Given the description of an element on the screen output the (x, y) to click on. 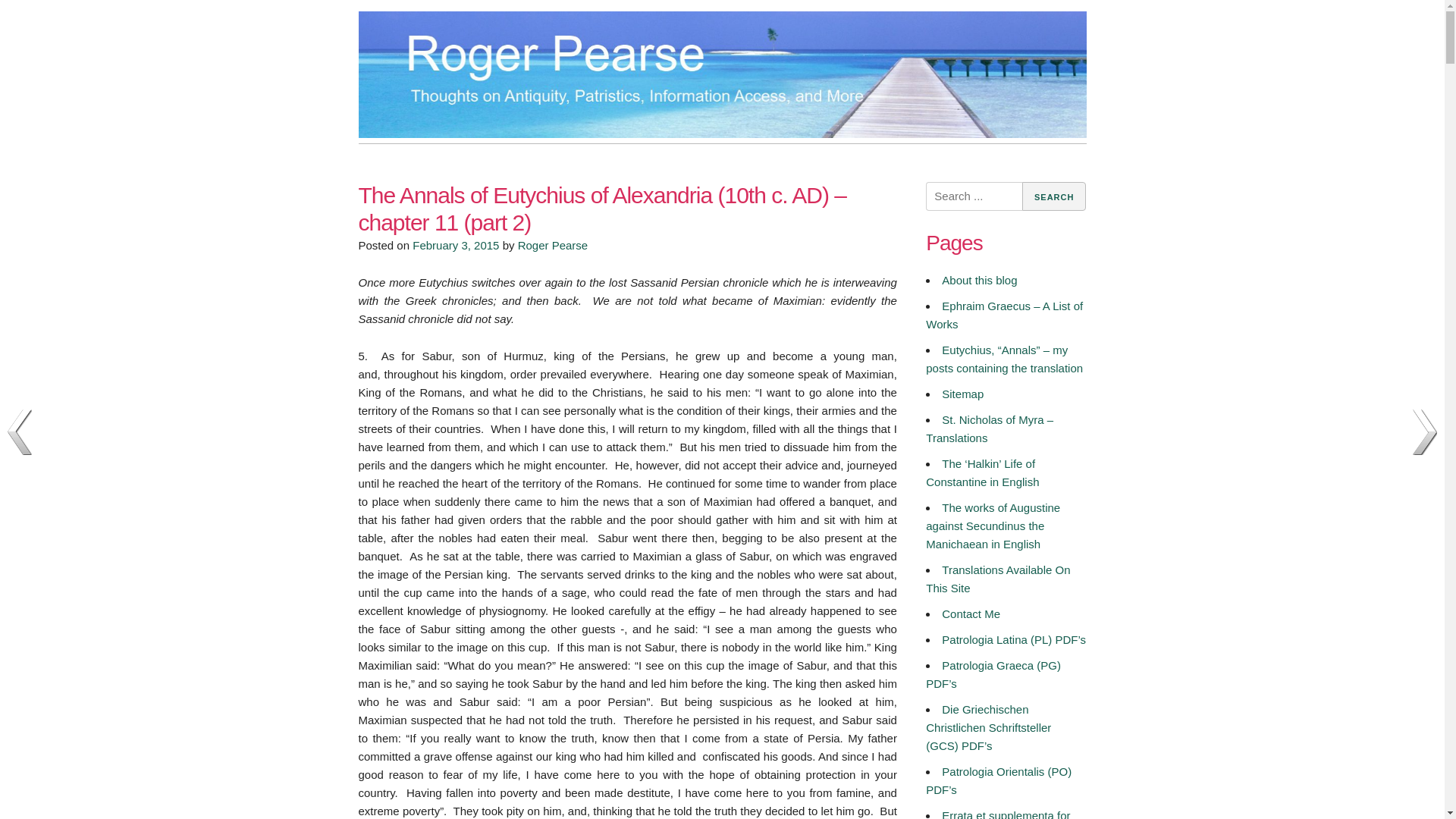
Search (1054, 195)
Search (1054, 195)
Roger Pearse (553, 245)
Search (1054, 195)
Roger Pearse (423, 164)
February 3, 2015 (455, 245)
